Given the description of an element on the screen output the (x, y) to click on. 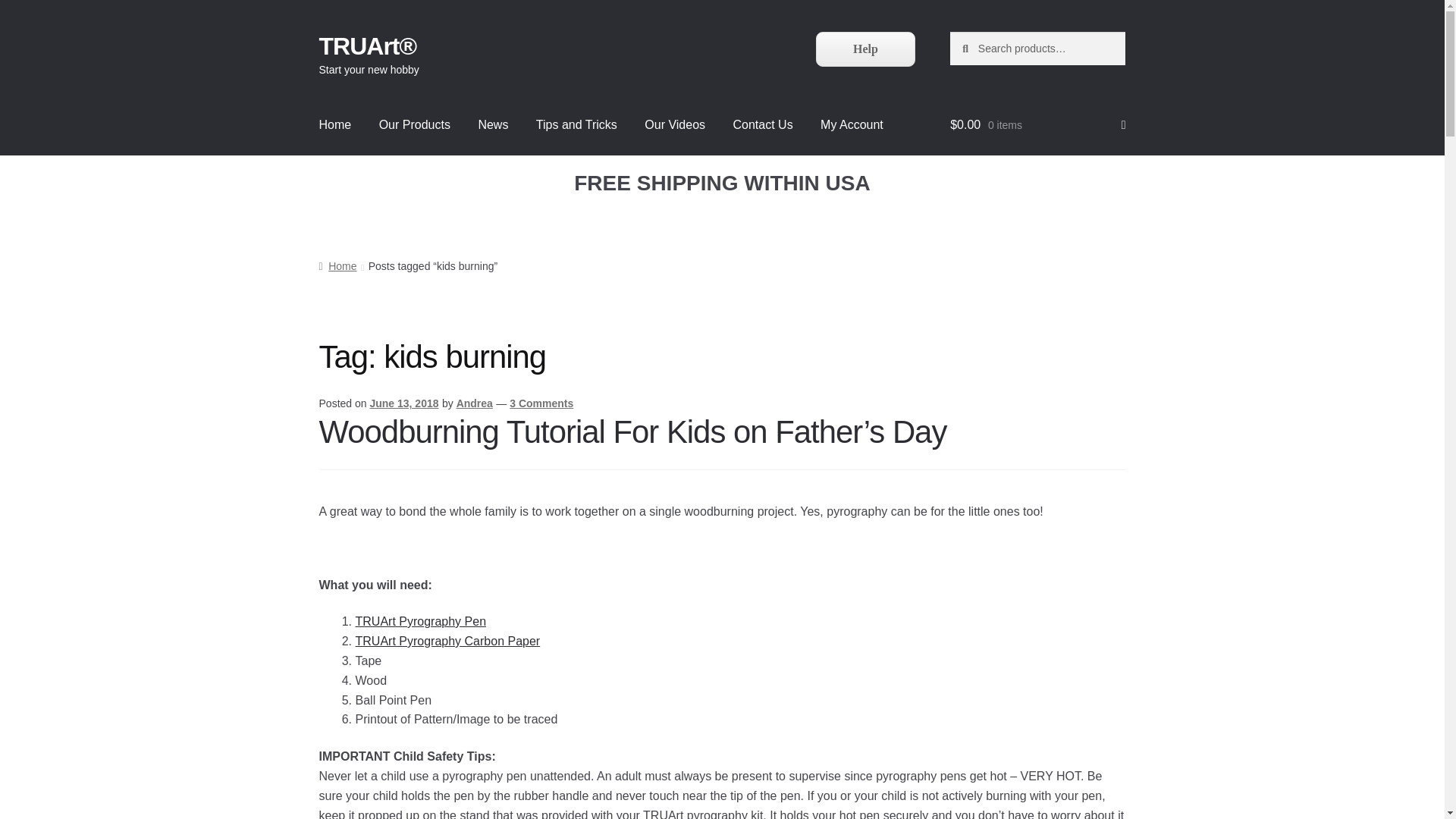
Tips and Tricks (576, 124)
June 13, 2018 (403, 403)
News (492, 124)
Contact Us (762, 124)
Home (337, 265)
TRUArt Pyrography Carbon Paper (447, 640)
Andrea (475, 403)
Home (335, 124)
My Account (851, 124)
